Given the description of an element on the screen output the (x, y) to click on. 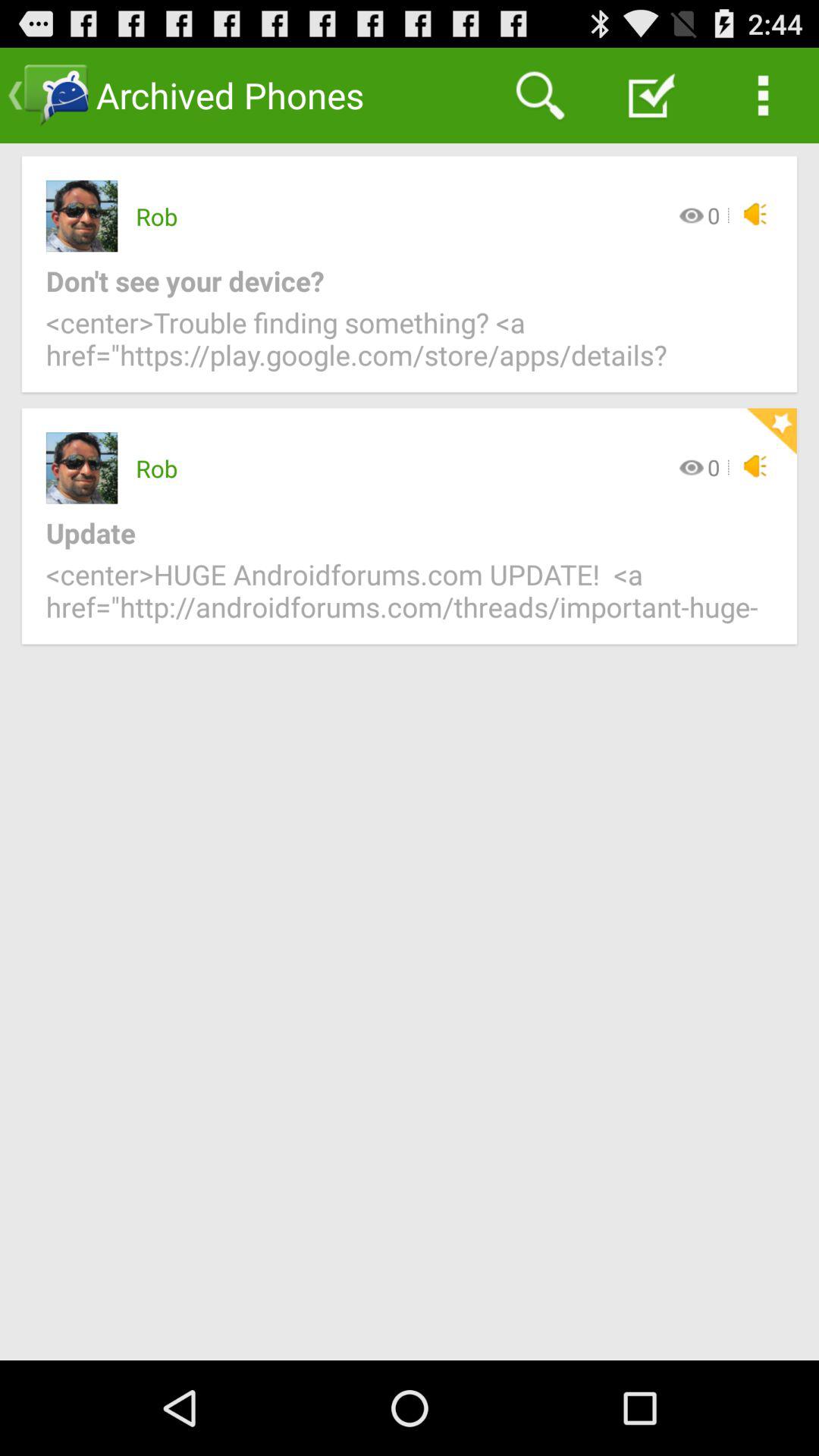
press don t see icon (397, 280)
